Given the description of an element on the screen output the (x, y) to click on. 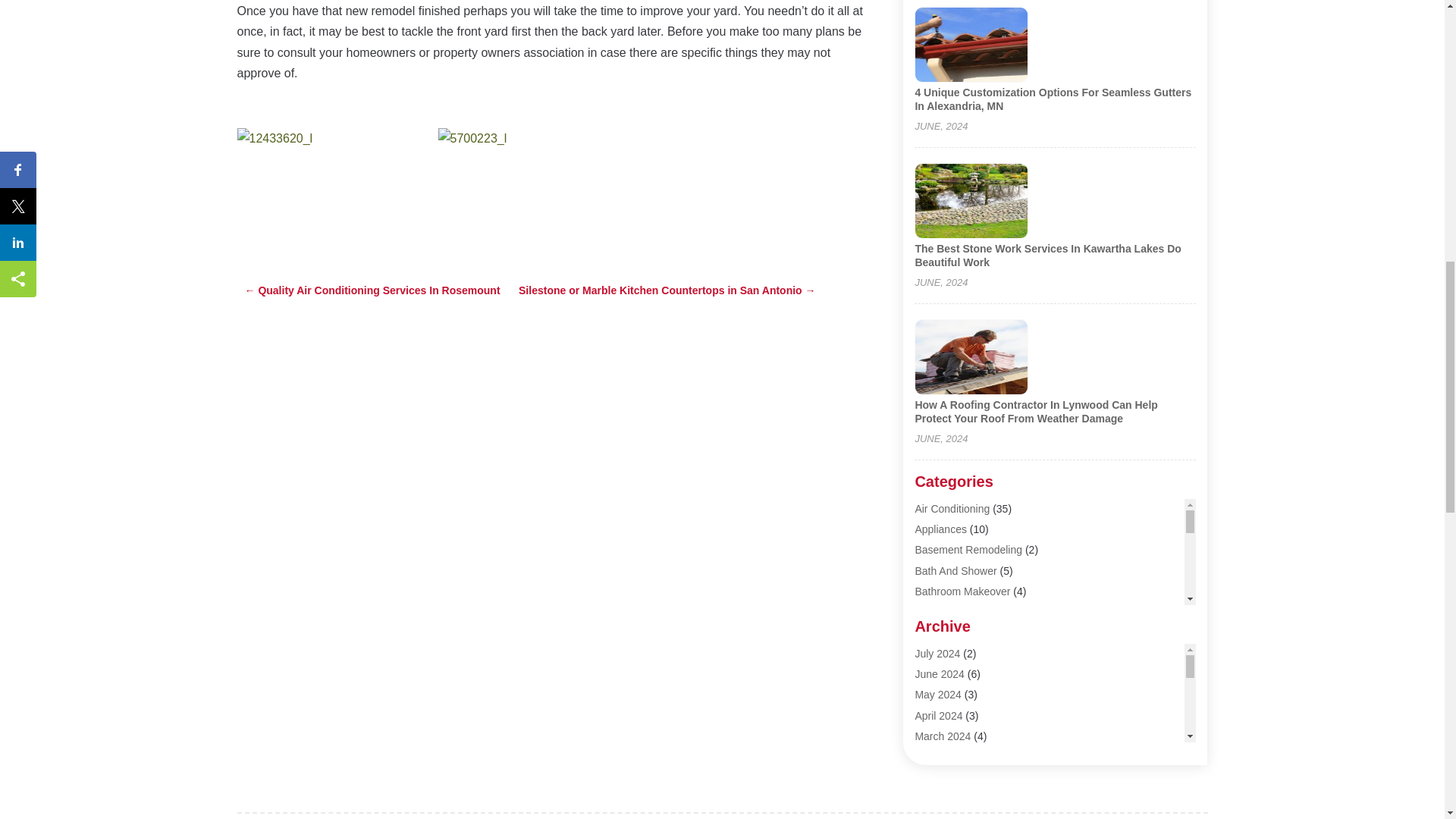
Cleaning (935, 715)
Cleaning Service (954, 735)
Basement Remodeling (968, 549)
Business (936, 653)
Blinds (928, 612)
Appliances (940, 529)
Air Conditioning (952, 508)
Commercial Refrigeration (974, 776)
Bath And Shower (954, 571)
Construction And Maintenance (986, 797)
Cleaning Tips And Tools (970, 756)
Bathroom Makeover (962, 591)
